Given the description of an element on the screen output the (x, y) to click on. 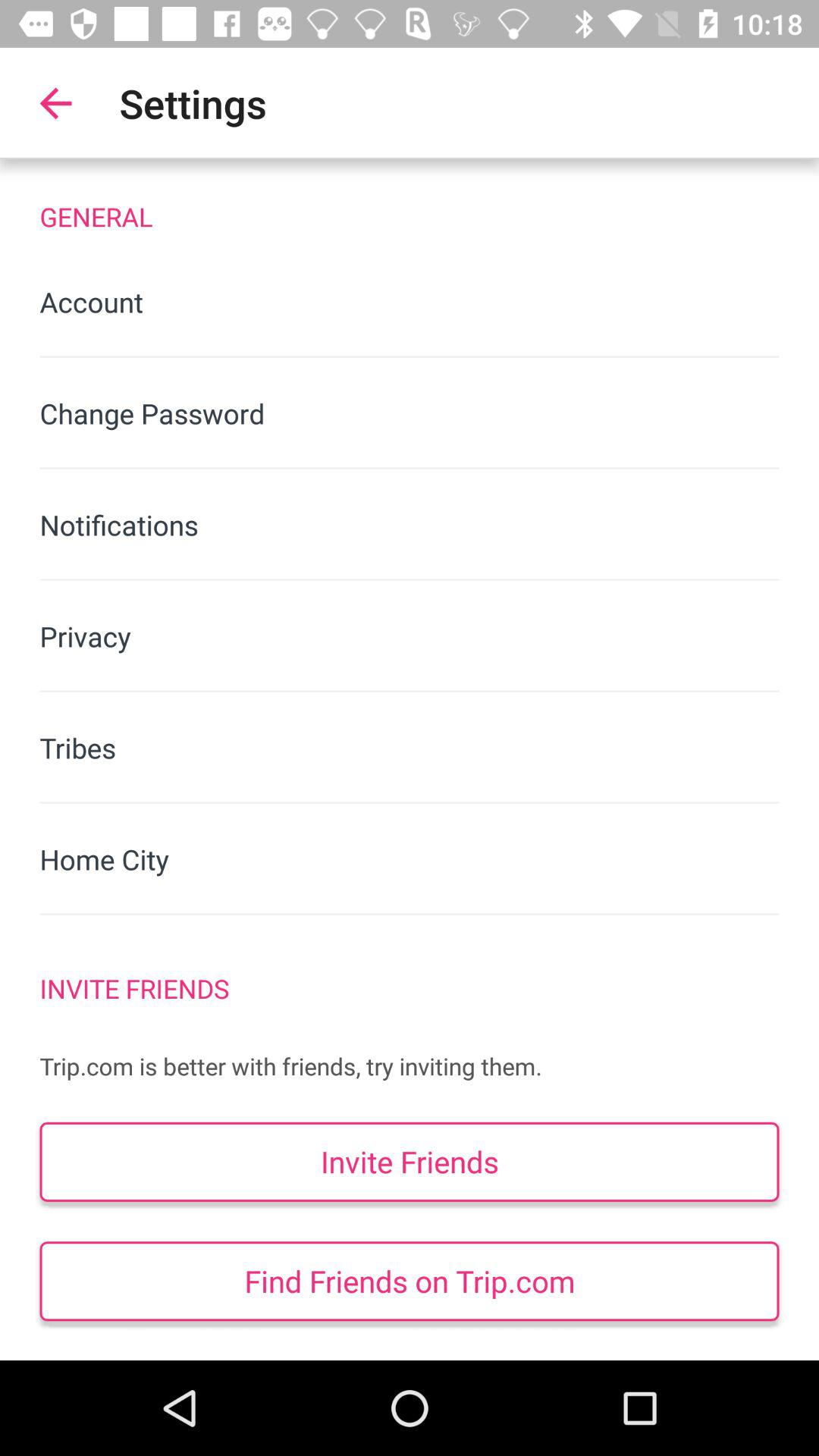
jump to the find friends on icon (409, 1281)
